Given the description of an element on the screen output the (x, y) to click on. 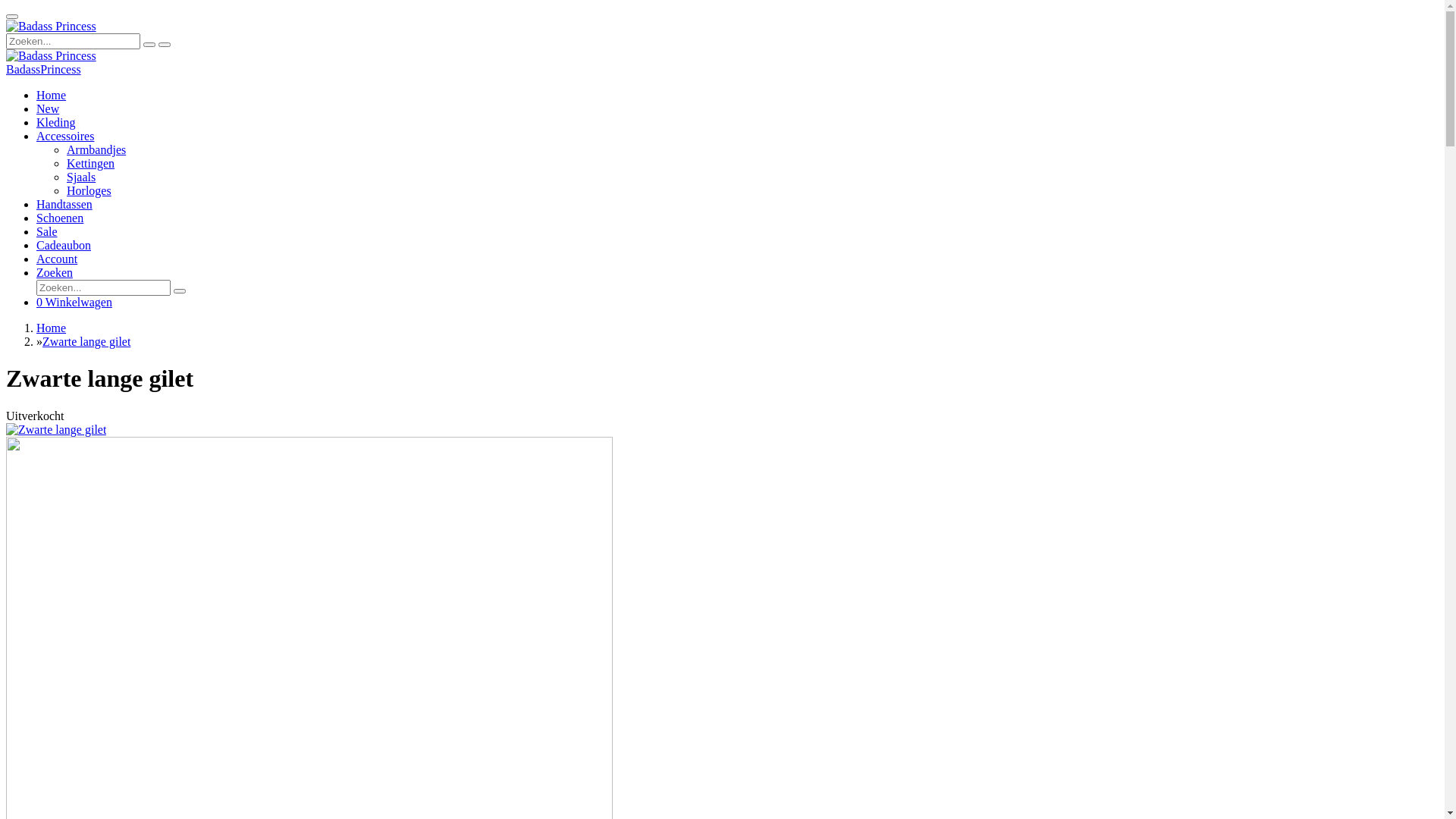
Cadeaubon Element type: text (63, 244)
Account Element type: text (56, 258)
Sjaals Element type: text (80, 176)
Home Element type: text (50, 94)
Kettingen Element type: text (90, 162)
New Element type: text (47, 108)
Zwarte lange gilet Element type: text (86, 341)
Badass Princess Element type: hover (51, 26)
BadassPrincess Element type: text (43, 68)
Handtassen Element type: text (64, 203)
Accessoires Element type: text (65, 135)
Armbandjes Element type: text (95, 149)
Sale Element type: text (46, 231)
Schoenen Element type: text (59, 217)
Zoeken Element type: text (54, 272)
Horloges Element type: text (88, 190)
Badass Princess Element type: hover (51, 55)
0 Winkelwagen Element type: text (74, 301)
Kleding Element type: text (55, 122)
Home Element type: text (50, 327)
